Given the description of an element on the screen output the (x, y) to click on. 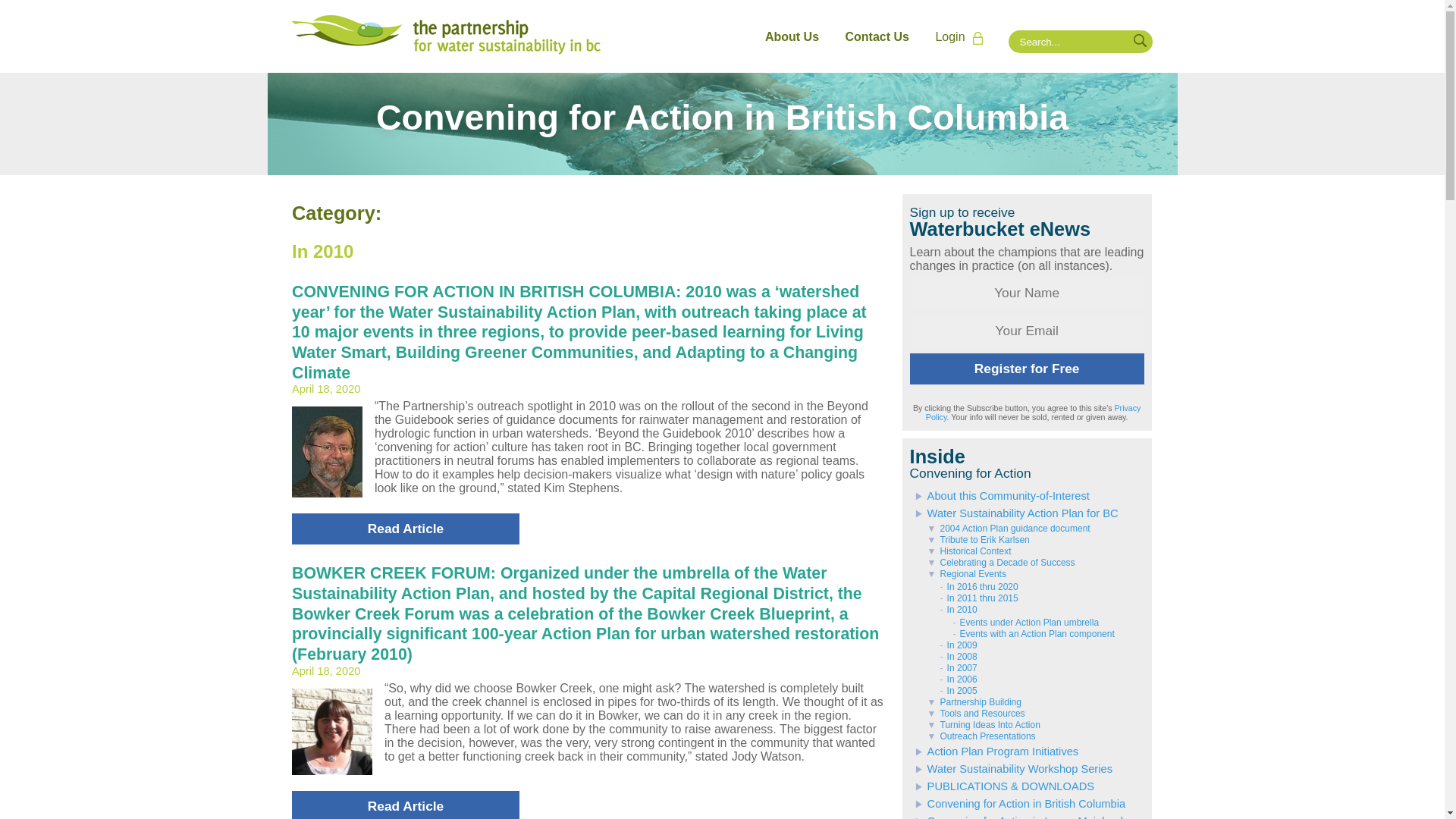
In 2010 (956, 609)
2004 Action Plan guidance document (1007, 528)
Contact Us (876, 37)
Register for Free (1027, 368)
Convening for Action in British Columbia (721, 123)
Login (963, 37)
In 2016 thru 2020 (977, 586)
Read Article (405, 528)
Tribute to Erik Karlsen (976, 539)
Water Sustainability Action Plan for BC (1014, 512)
Historical Context (967, 551)
Regional Events (965, 573)
Privacy Policy (1033, 412)
Register for Free (1027, 368)
About this Community-of-Interest (1000, 495)
